Given the description of an element on the screen output the (x, y) to click on. 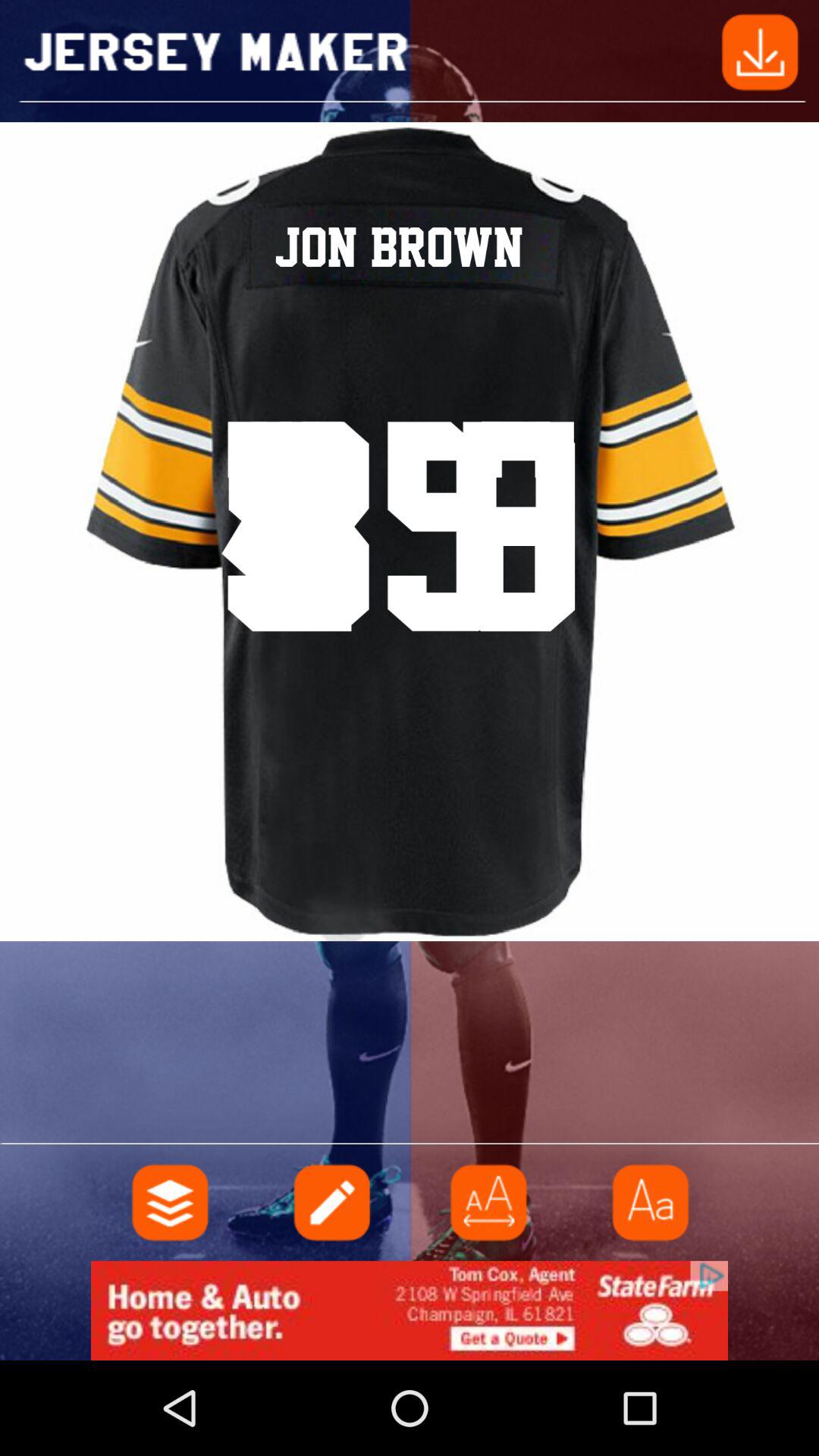
click the advertisement at bottom (409, 1310)
